Given the description of an element on the screen output the (x, y) to click on. 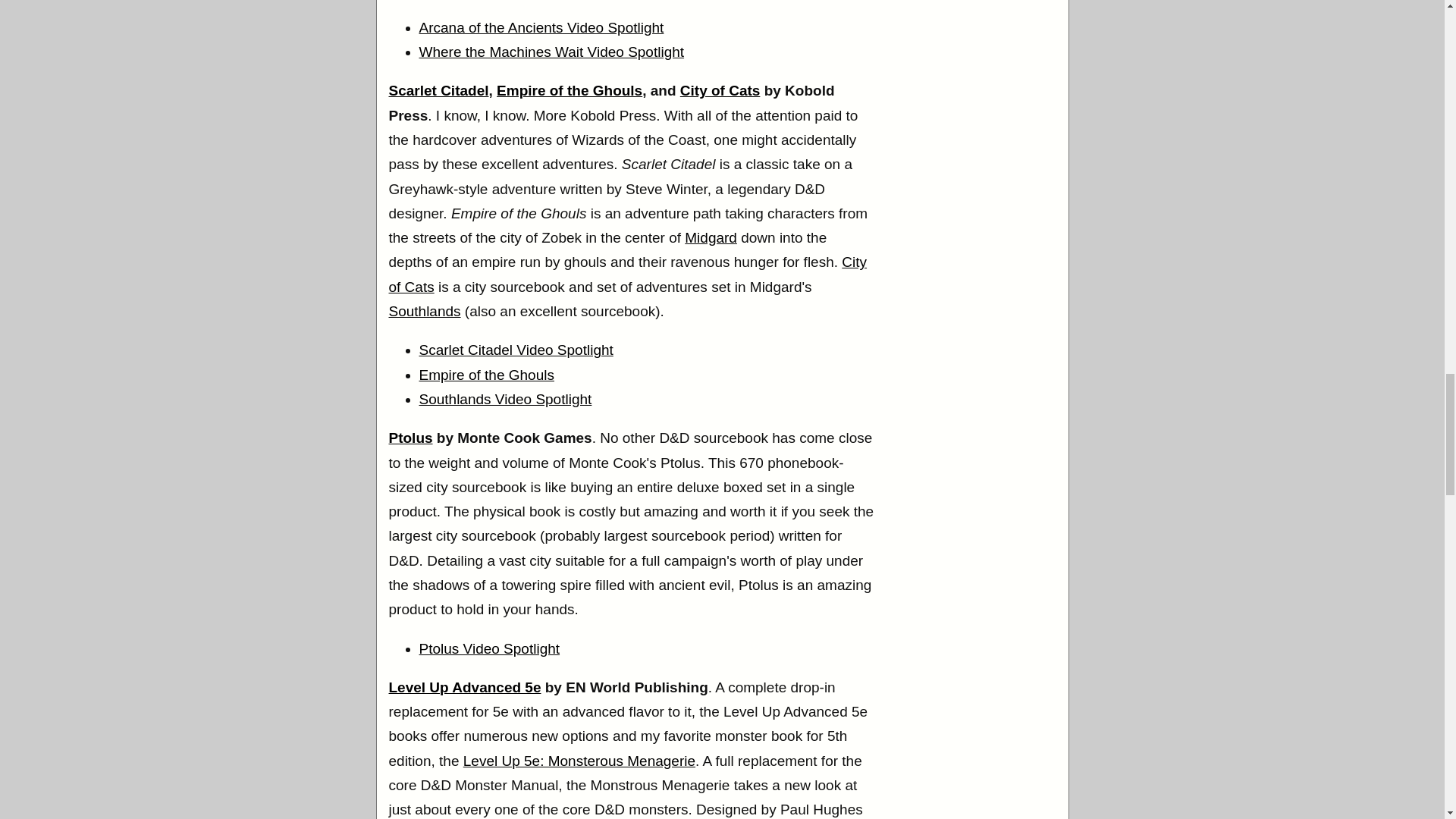
Scarlet Citadel (437, 90)
Arcana of the Ancients Video Spotlight (541, 27)
Where the Machines Wait Video Spotlight (551, 51)
